Given the description of an element on the screen output the (x, y) to click on. 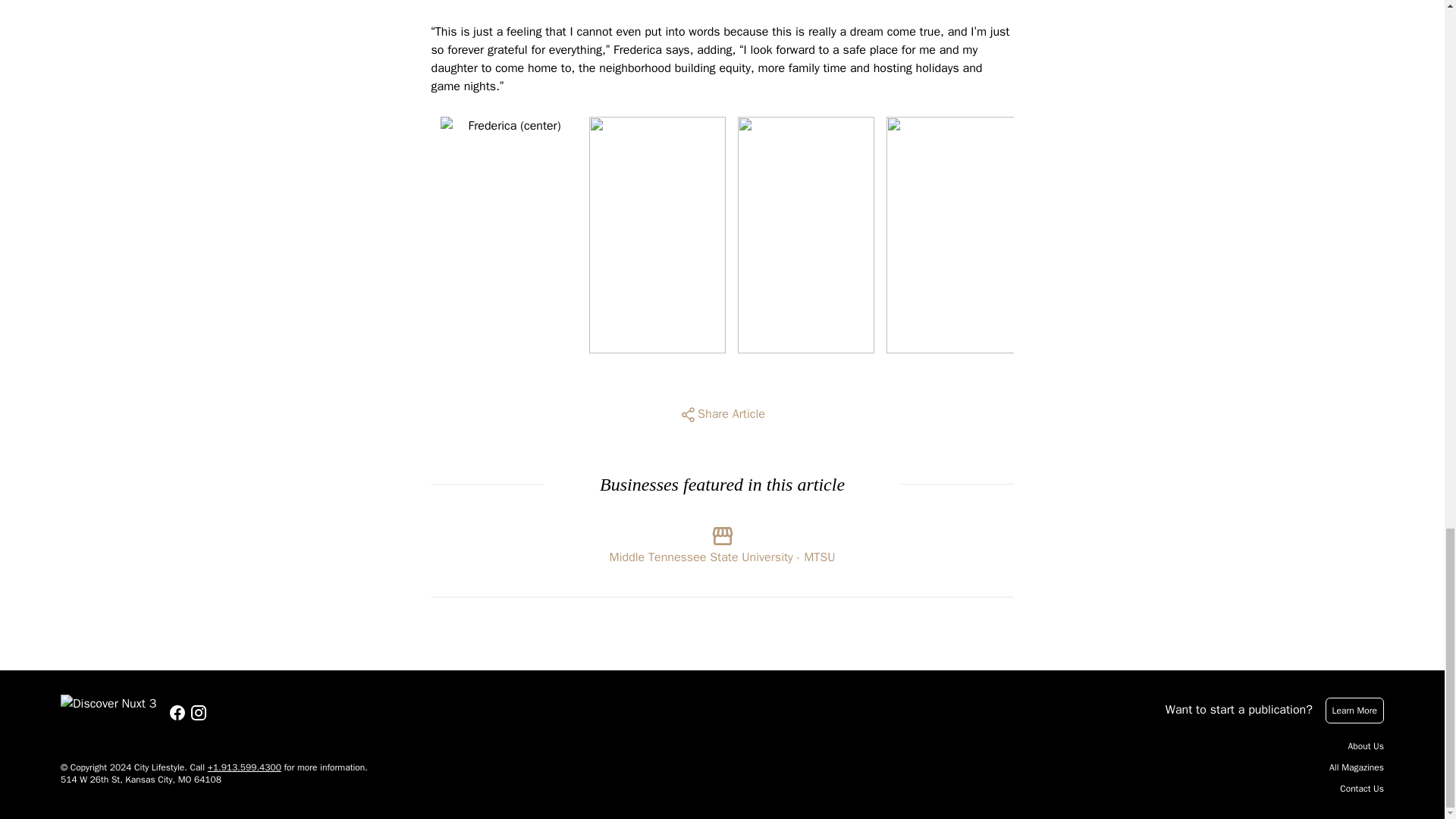
Learn More (1354, 710)
About Us (1366, 746)
Contact Us (1361, 788)
Share Article (722, 414)
Middle Tennessee State University - MTSU (722, 540)
All Magazines (1356, 767)
